Given the description of an element on the screen output the (x, y) to click on. 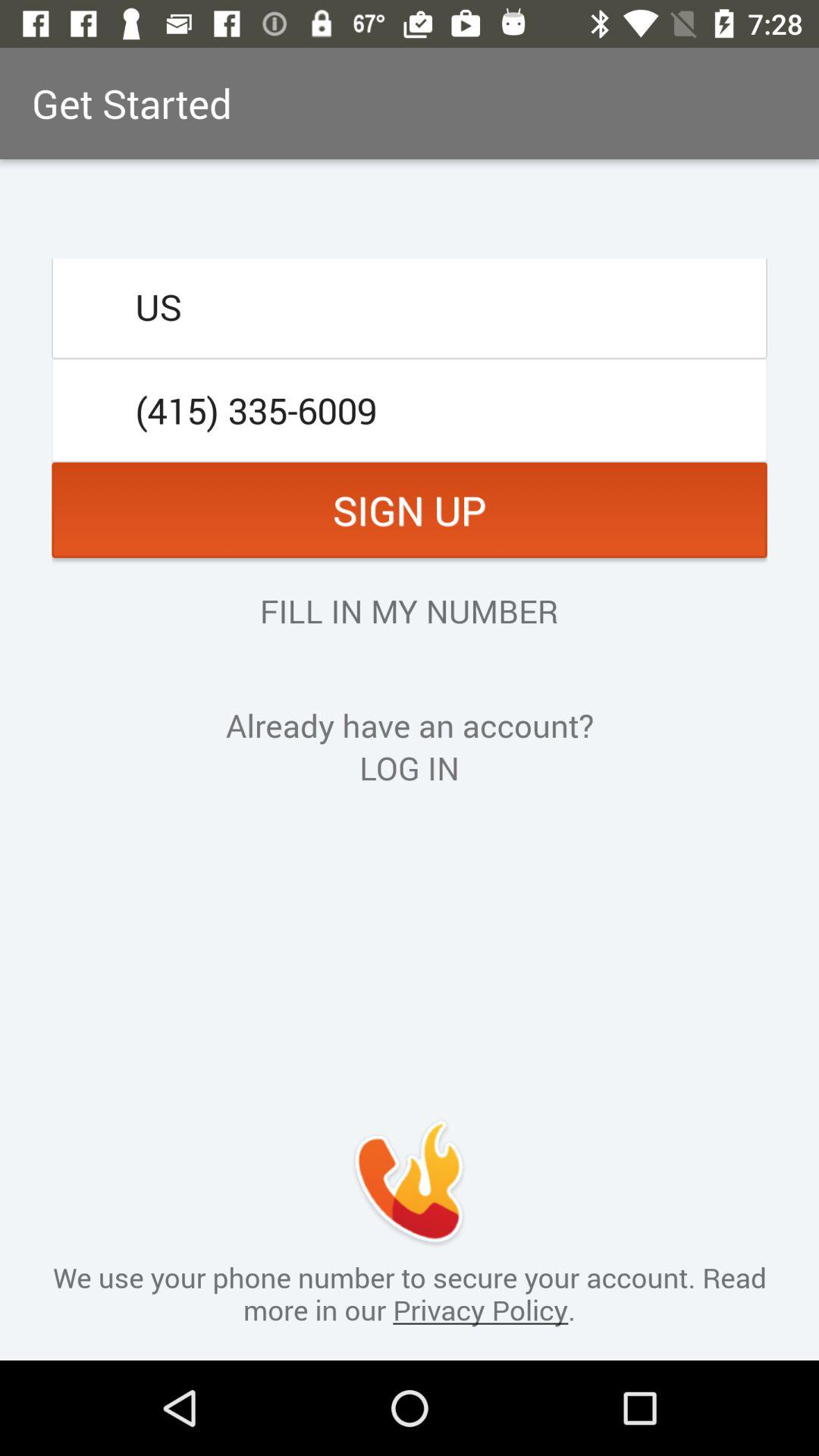
select the (415) 335-6009 icon (409, 410)
